Given the description of an element on the screen output the (x, y) to click on. 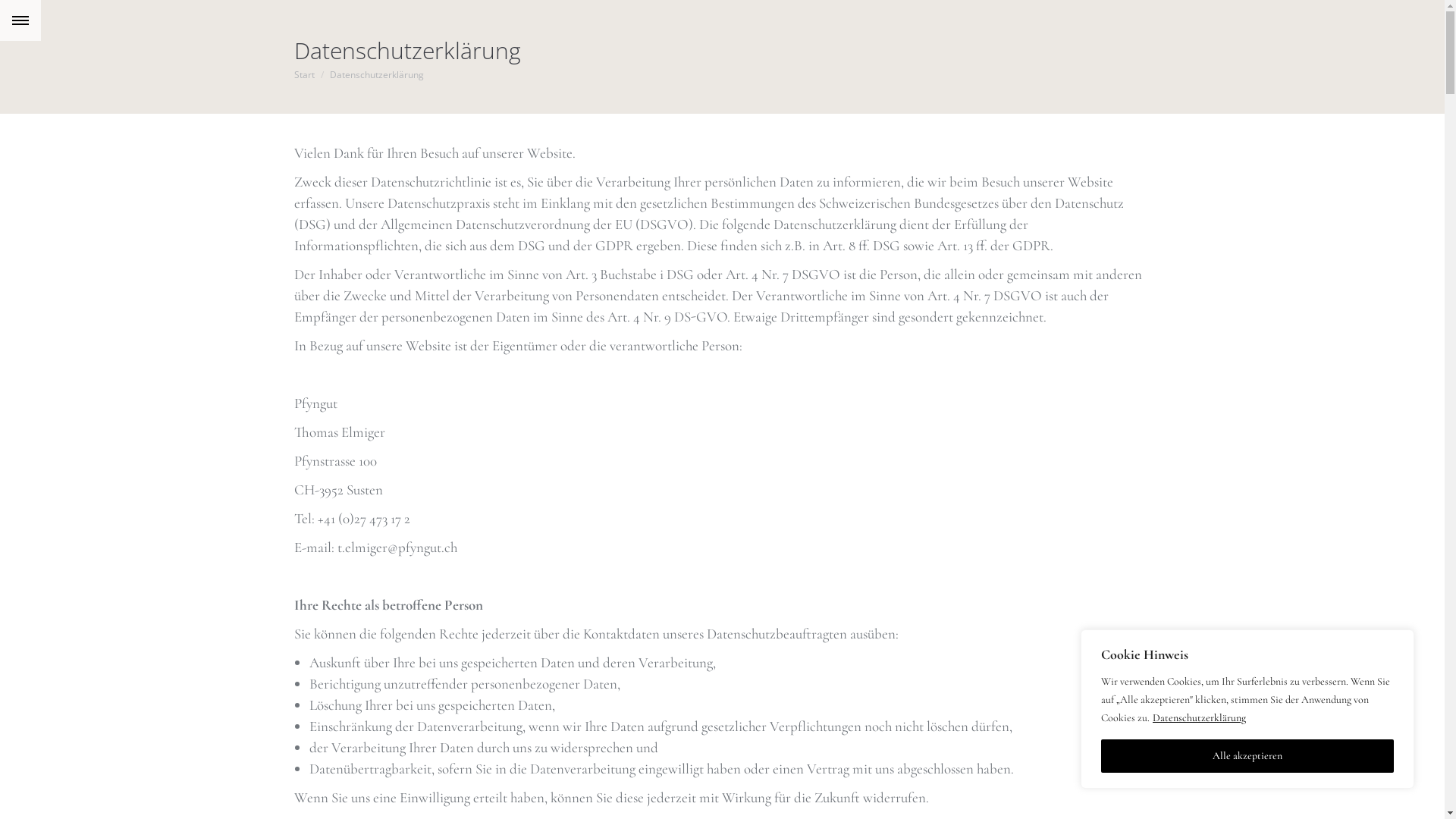
Alle akzeptieren Element type: text (1247, 755)
Start Element type: text (304, 74)
